Given the description of an element on the screen output the (x, y) to click on. 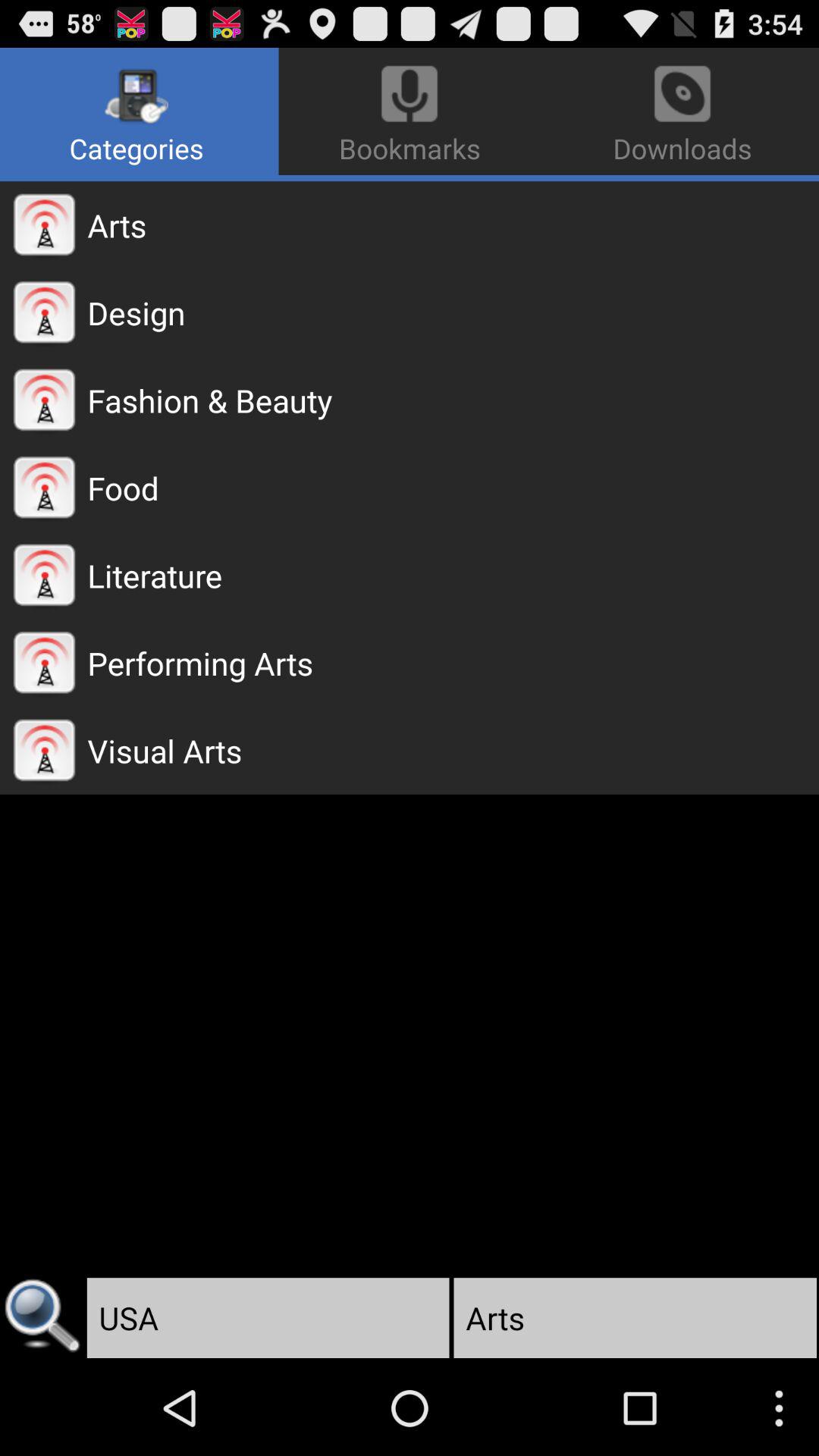
launch the categories app (139, 111)
